Given the description of an element on the screen output the (x, y) to click on. 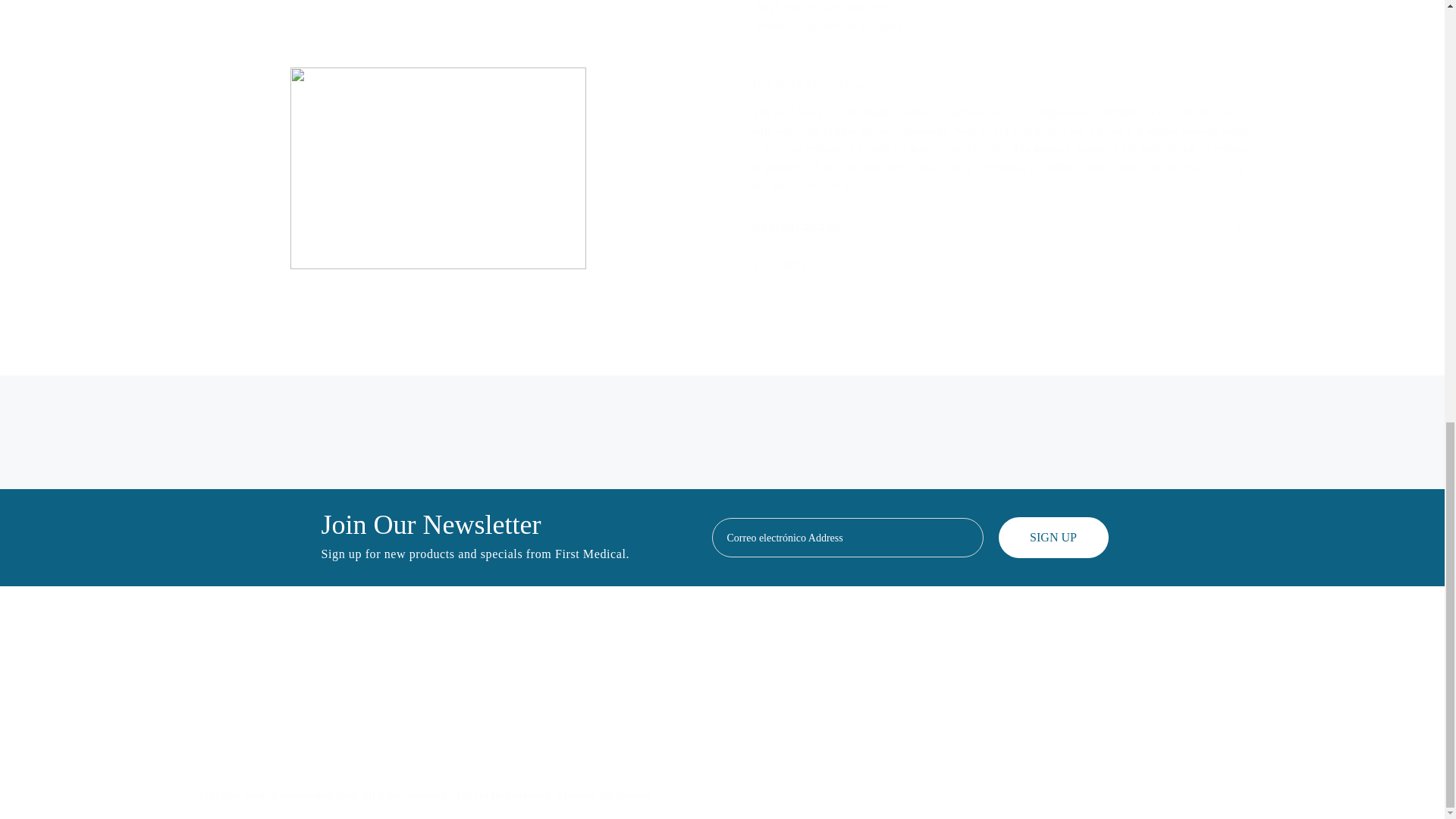
First Medical International Google Maps Location (1144, 708)
